Given the description of an element on the screen output the (x, y) to click on. 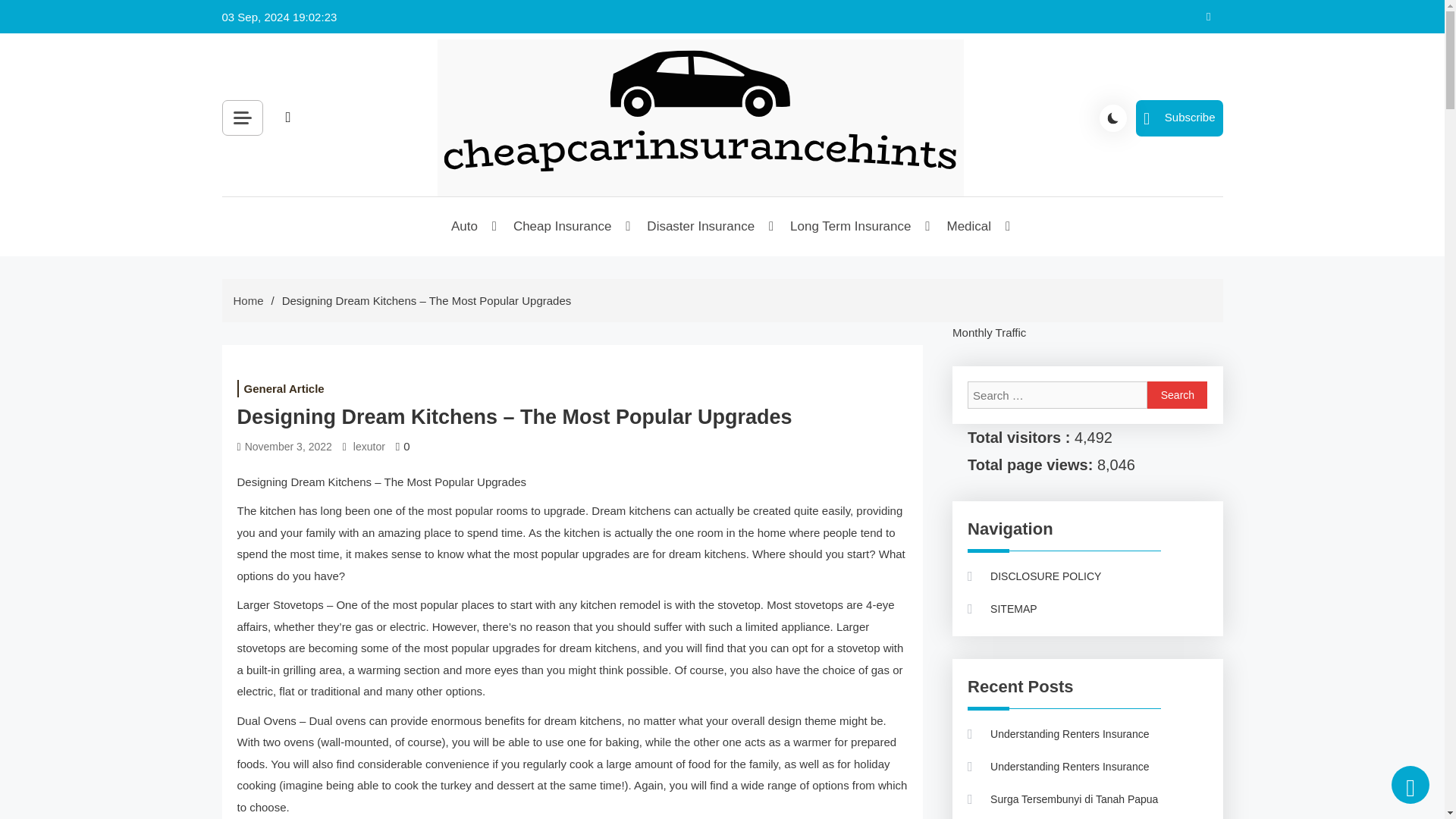
Subscribe (1179, 117)
cheapcarinsurancehints (594, 215)
site mode button (1112, 117)
Search (458, 152)
Search (1177, 394)
Search (1177, 394)
Disaster Insurance (701, 226)
Cheap Insurance (563, 226)
Auto (464, 226)
Long Term Insurance (851, 226)
